Given the description of an element on the screen output the (x, y) to click on. 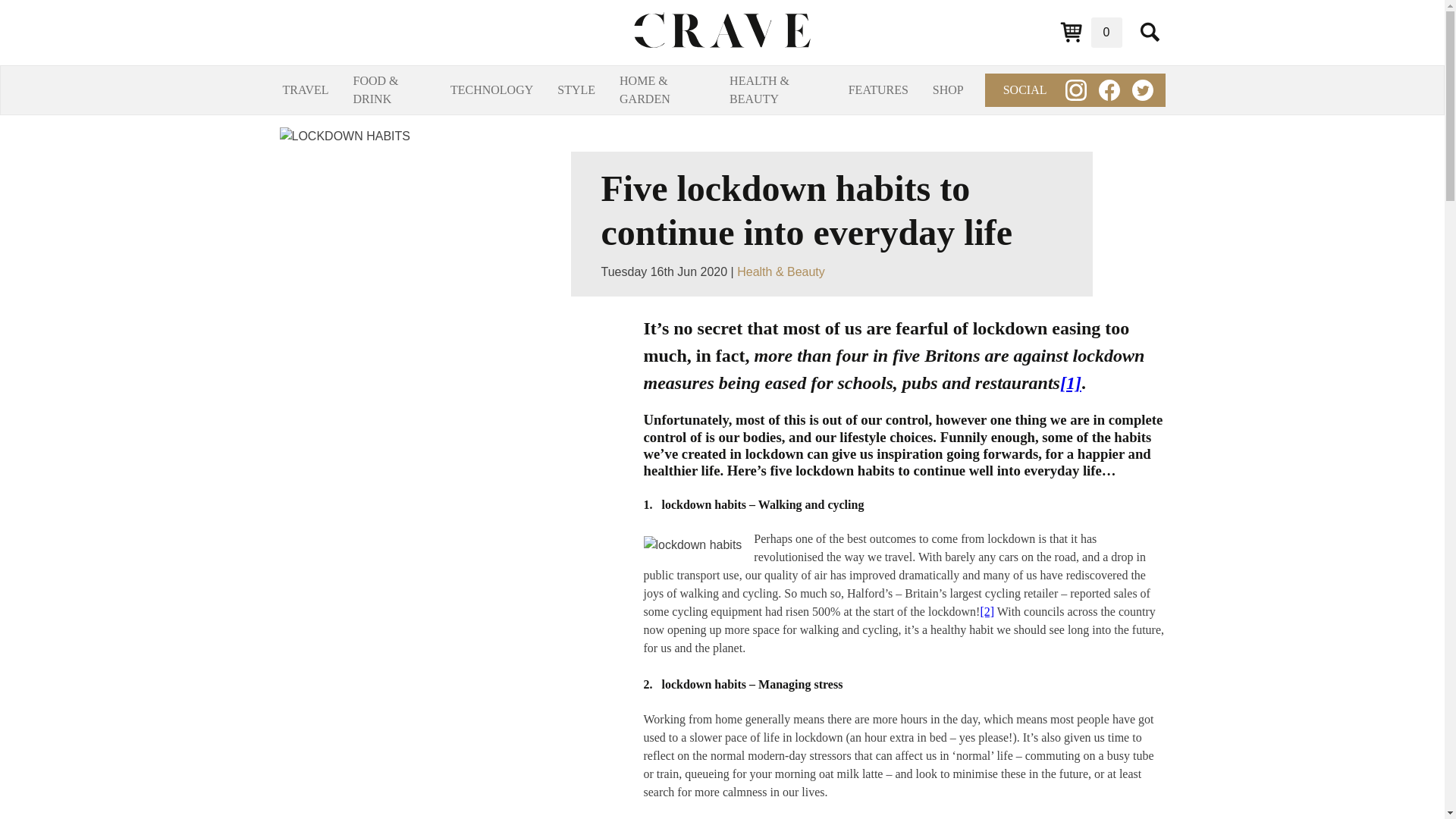
STYLE (576, 89)
0 (1090, 32)
SHOP (948, 89)
FEATURES (878, 89)
TRAVEL (305, 89)
Cart View (1090, 32)
TECHNOLOGY (490, 89)
